Given the description of an element on the screen output the (x, y) to click on. 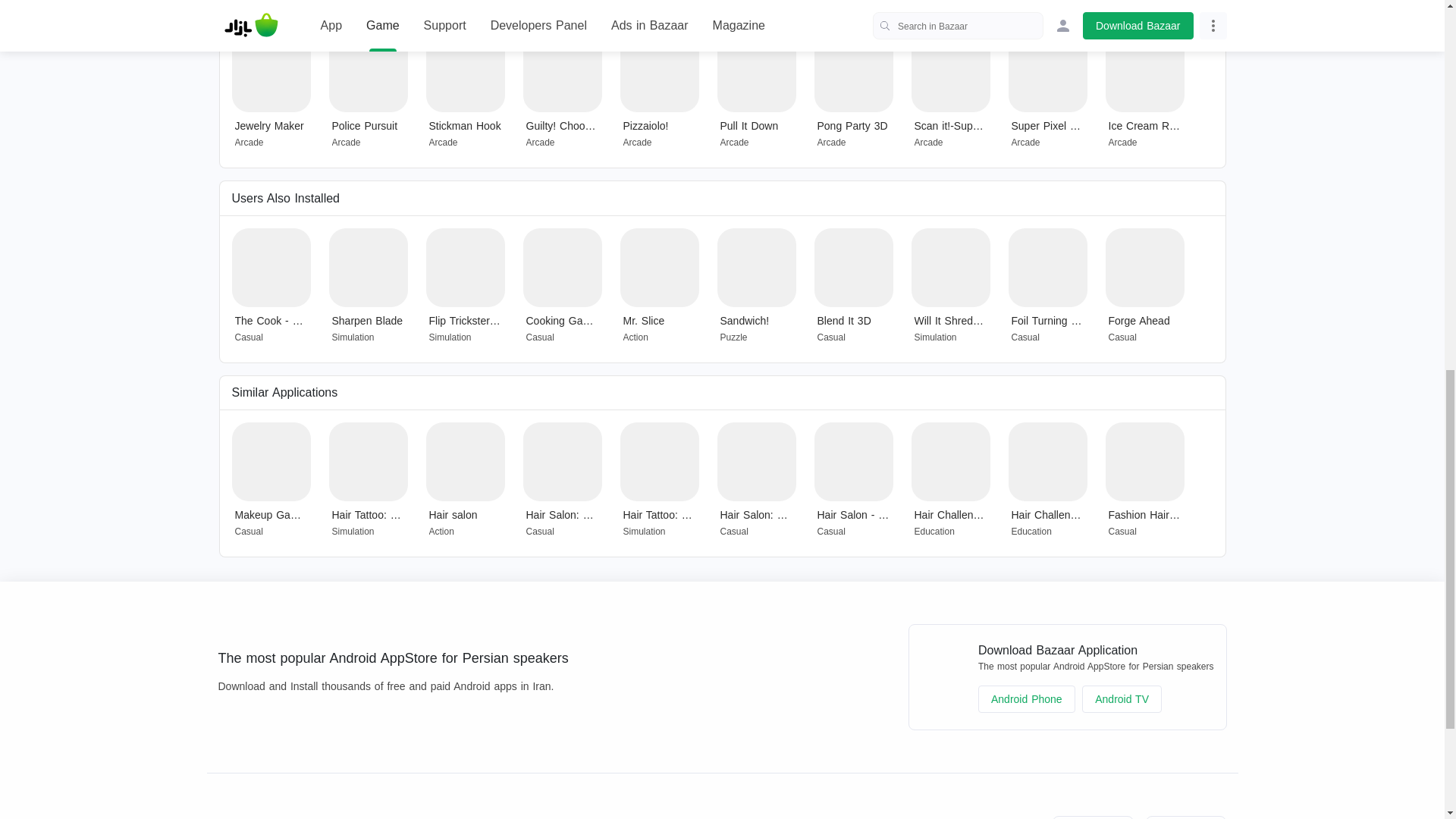
Install Bazaar (266, 817)
